Given the description of an element on the screen output the (x, y) to click on. 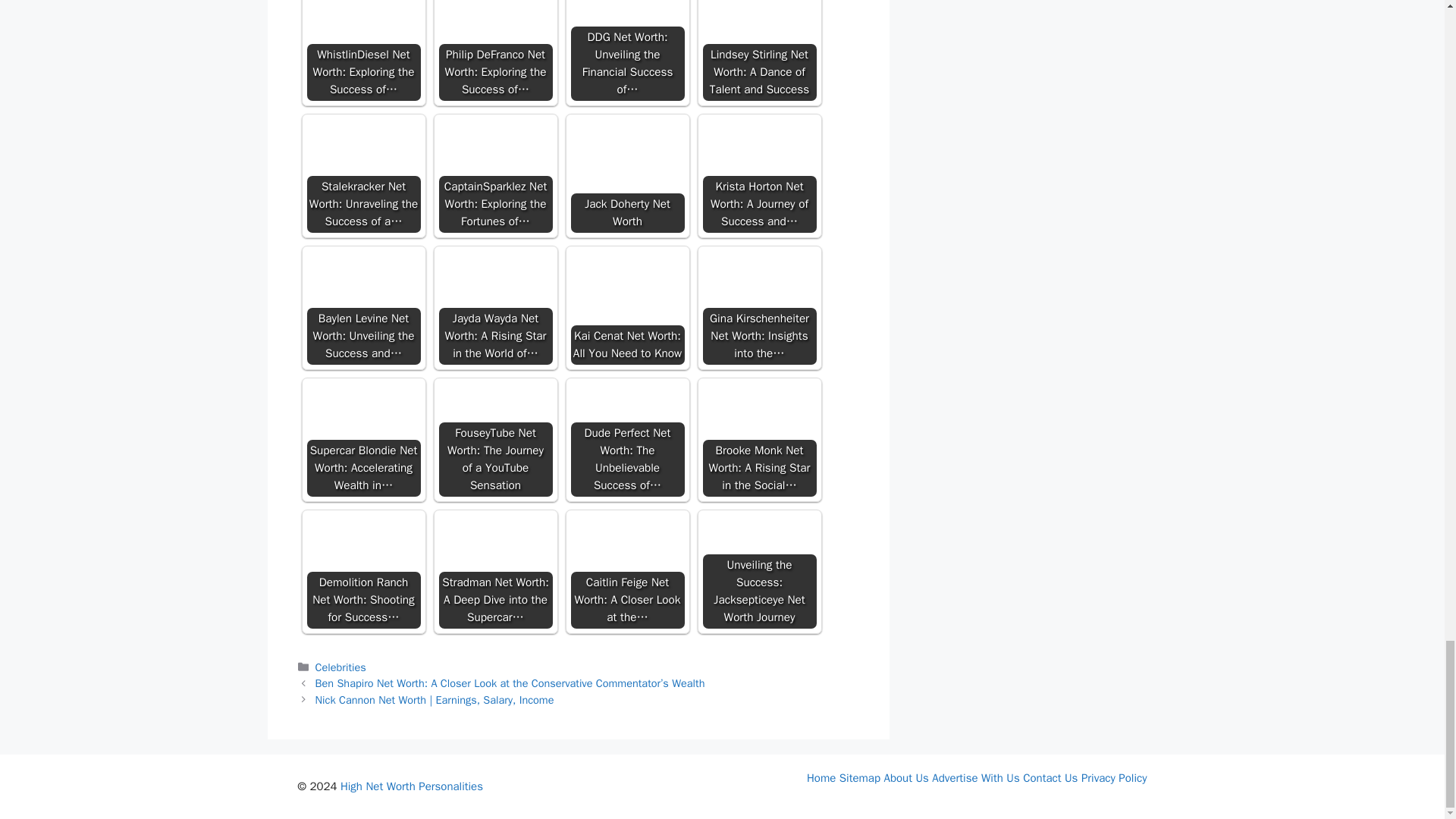
Jack Doherty Net Worth (627, 150)
Lindsey Stirling Net Worth: A Dance of Talent and Success (758, 22)
Kai Cenat Net Worth: All You Need to Know (627, 307)
